Given the description of an element on the screen output the (x, y) to click on. 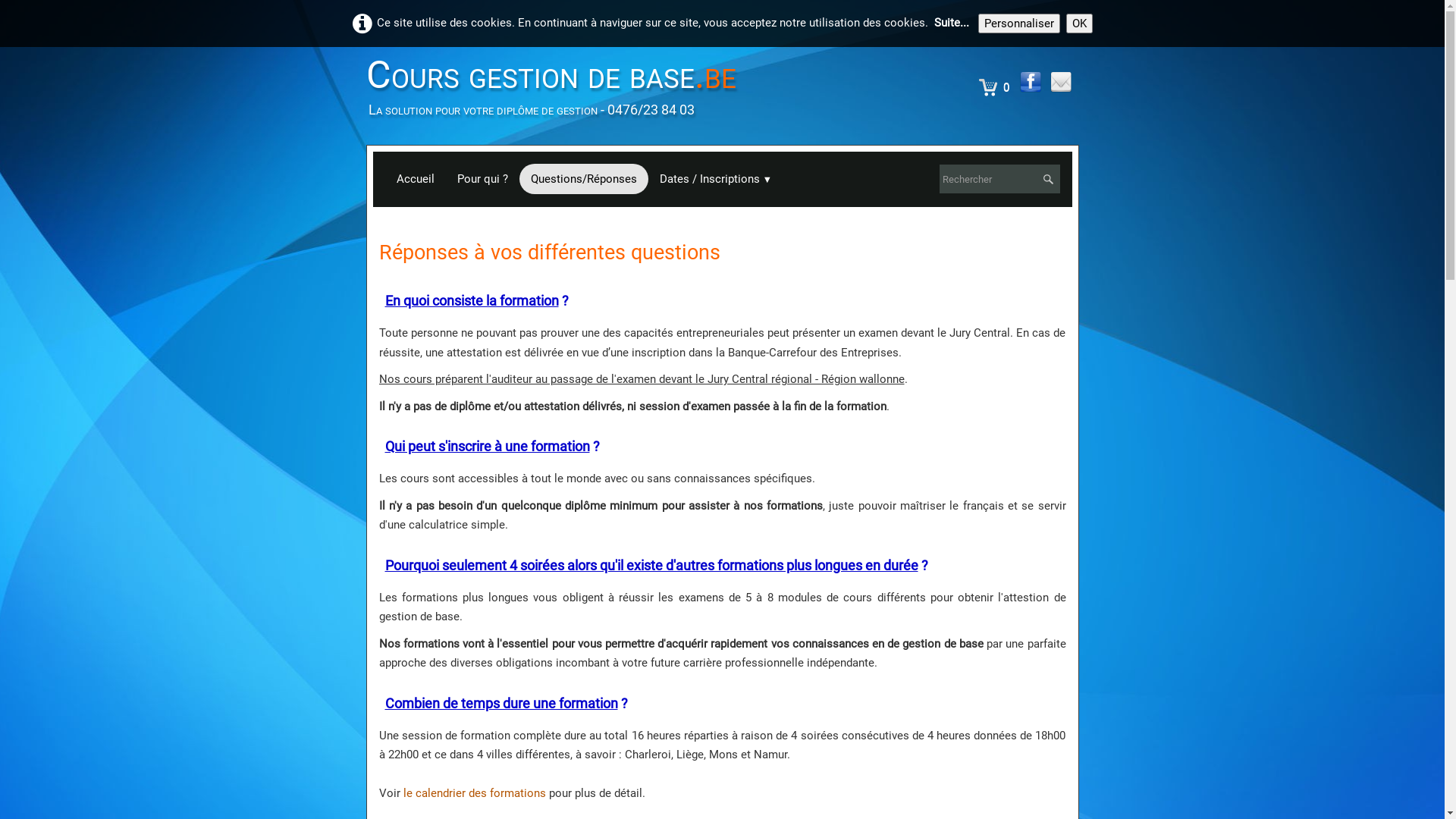
Pour qui ? Element type: text (482, 178)
Suite... Element type: text (951, 22)
OK Element type: text (1079, 23)
le calendrier des formations Element type: text (474, 793)
Accueil Element type: text (415, 178)
Personnaliser Element type: text (1019, 23)
0 Element type: text (994, 86)
